Given the description of an element on the screen output the (x, y) to click on. 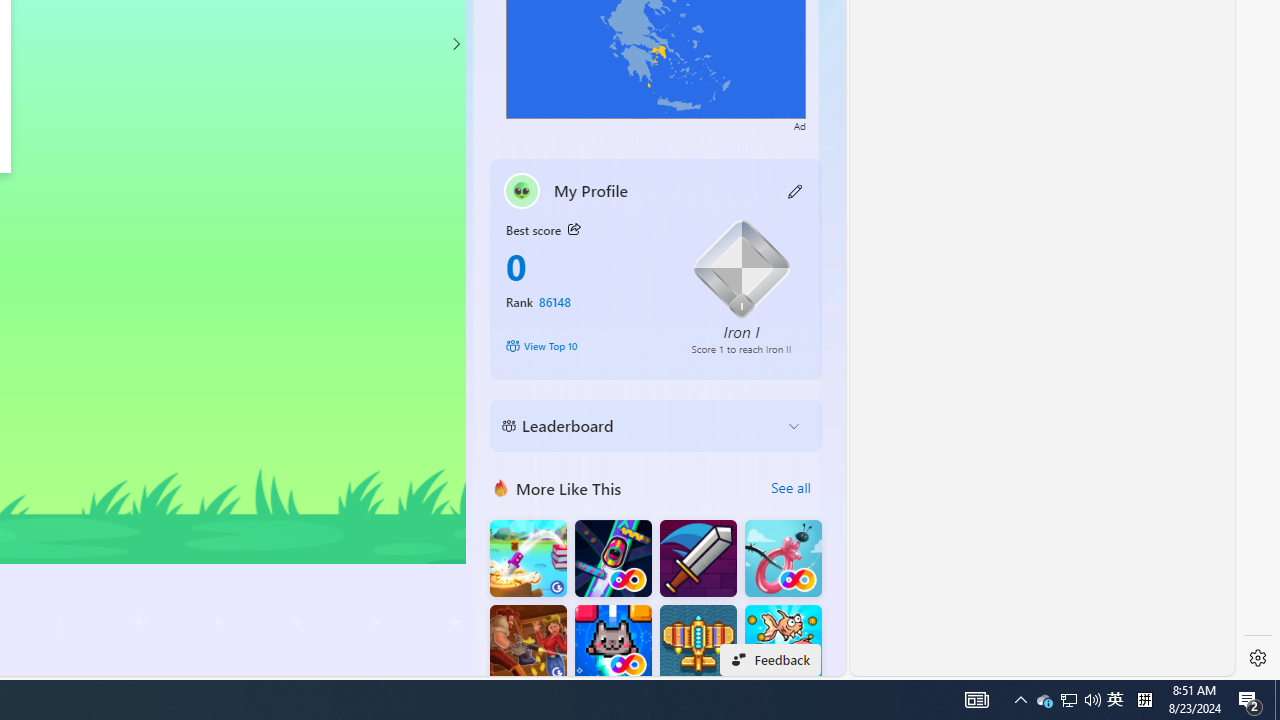
Class: button (574, 229)
""'s avatar (522, 190)
Dungeon Master Knight (698, 558)
Knife Flip (528, 558)
Leaderboard (639, 425)
